Given the description of an element on the screen output the (x, y) to click on. 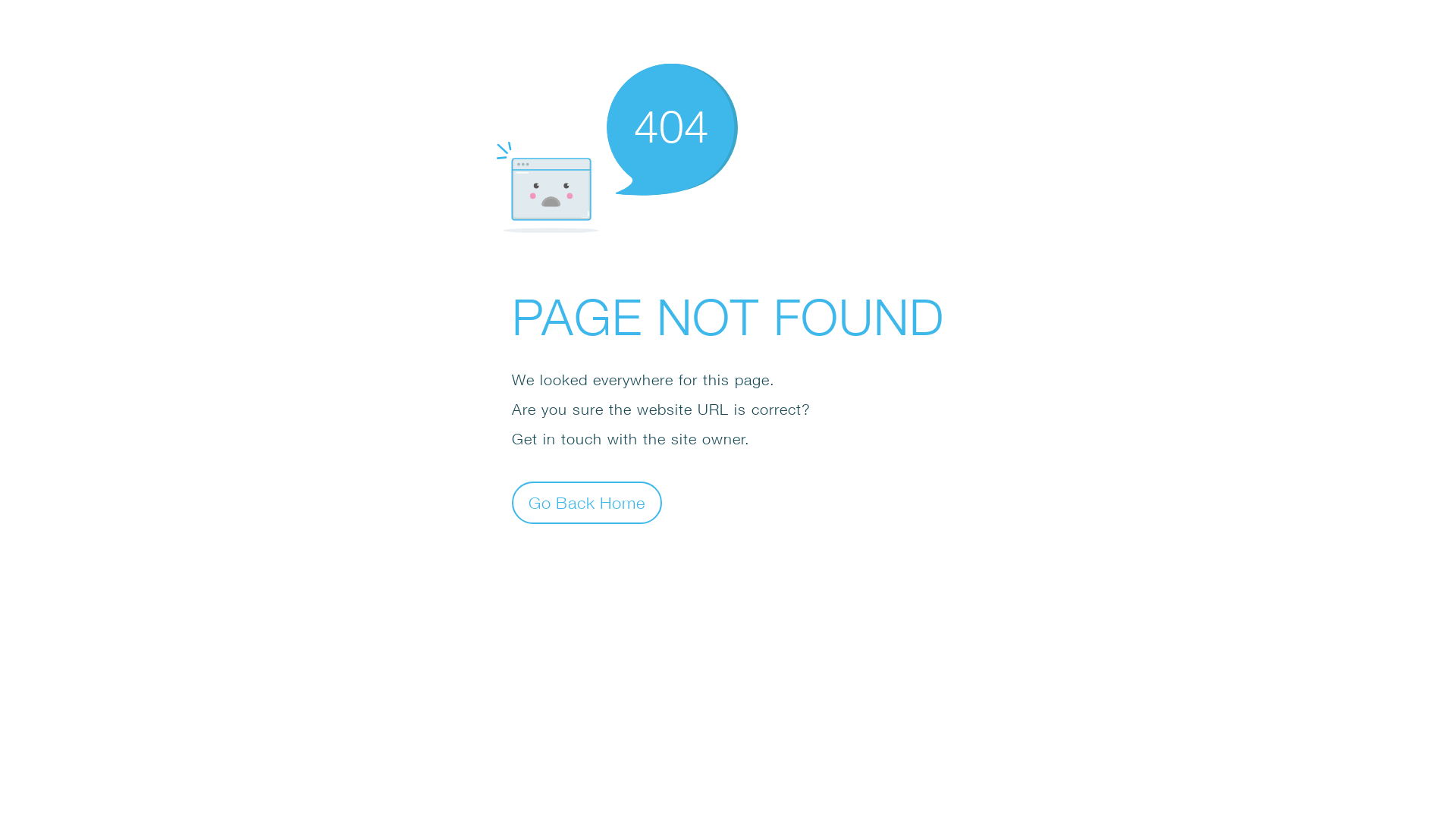
Go Back Home Element type: text (586, 502)
